Given the description of an element on the screen output the (x, y) to click on. 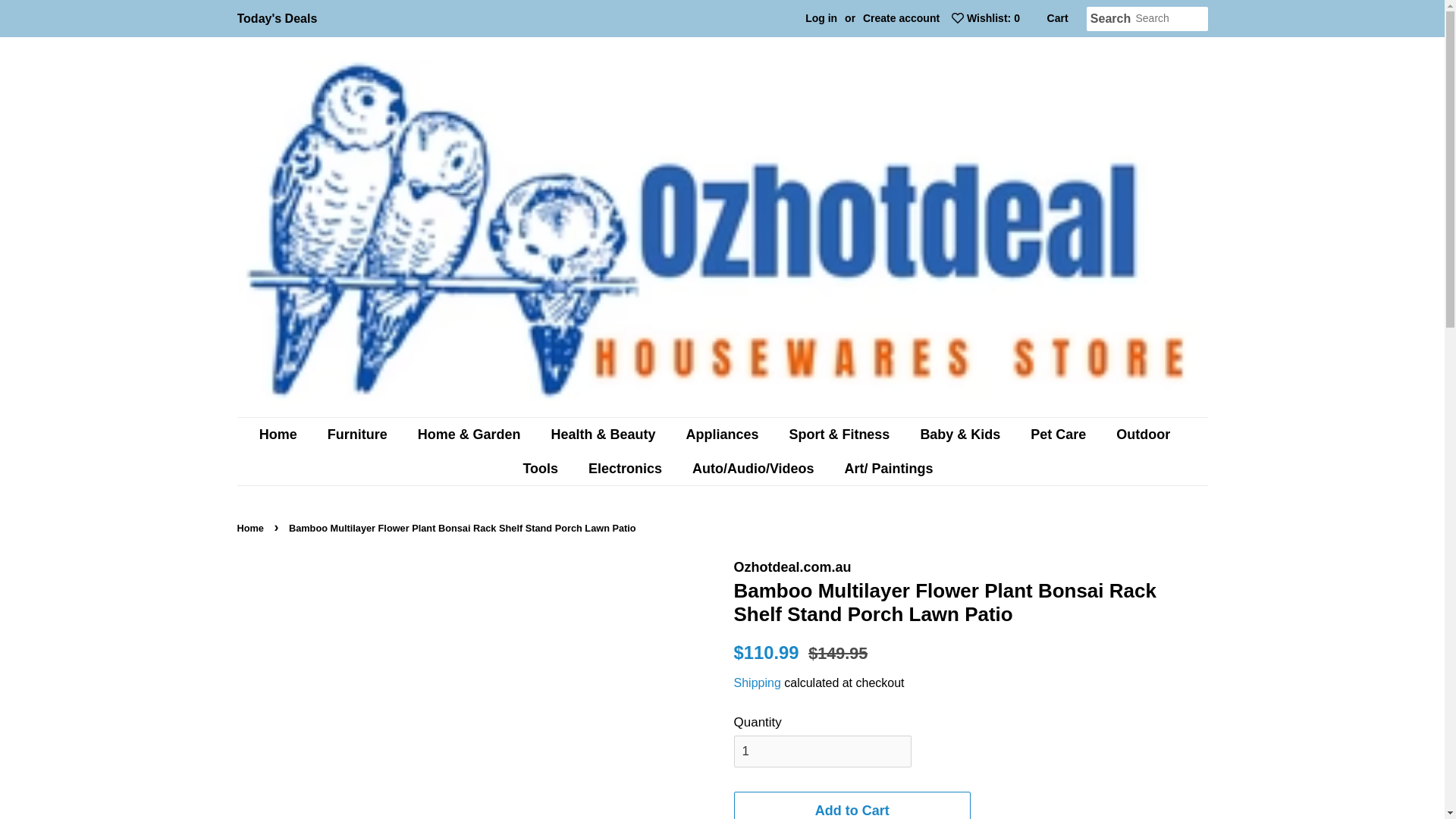
Log in (821, 18)
Today's Deals (276, 18)
Cart (1057, 18)
Back to the frontpage (250, 527)
1 (822, 751)
Create account (901, 18)
Search (1110, 18)
Wishlist: 0 (981, 18)
